Given the description of an element on the screen output the (x, y) to click on. 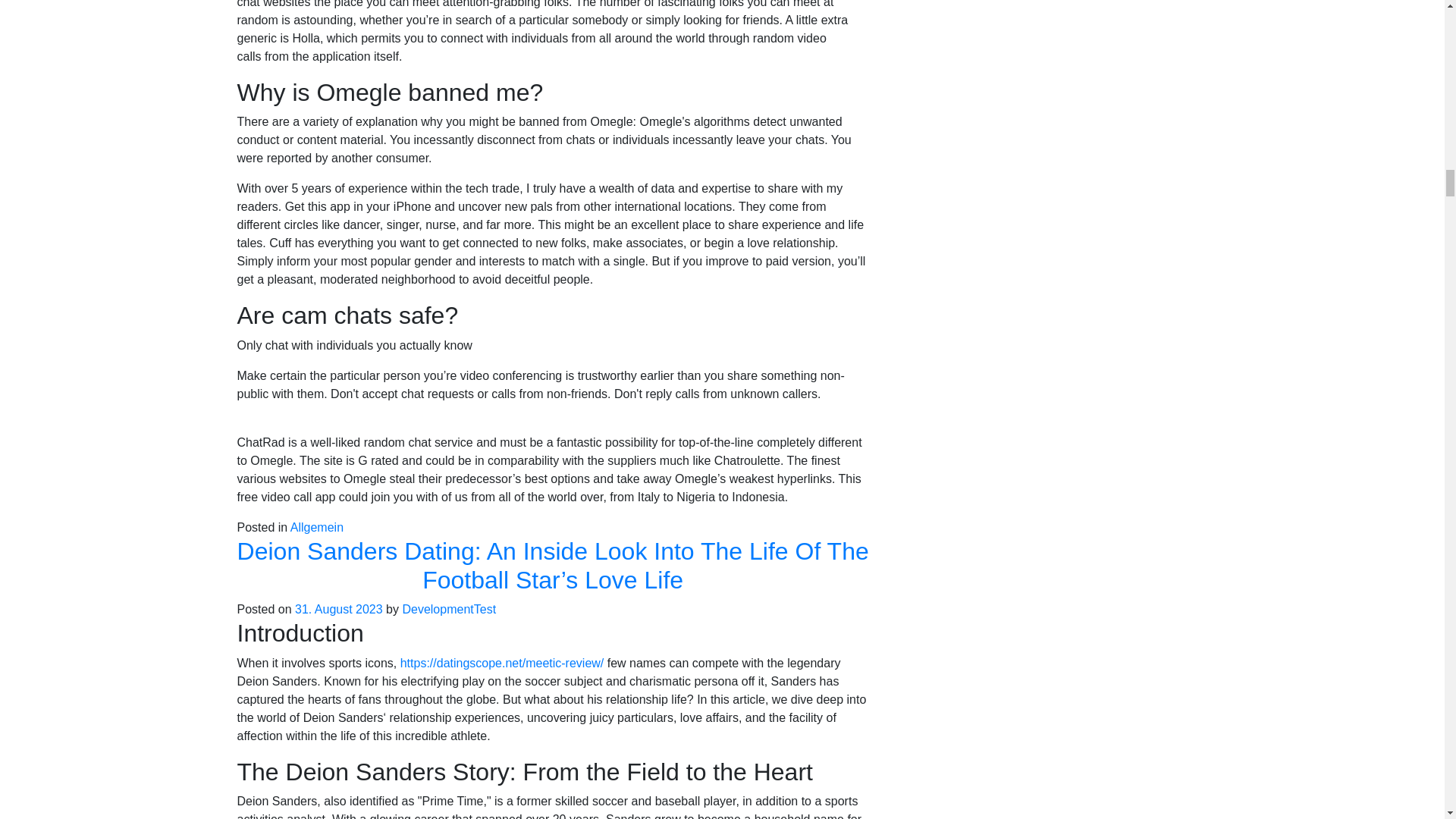
31. August 2023 (338, 608)
Allgemein (316, 526)
DevelopmentTest (448, 608)
